Given the description of an element on the screen output the (x, y) to click on. 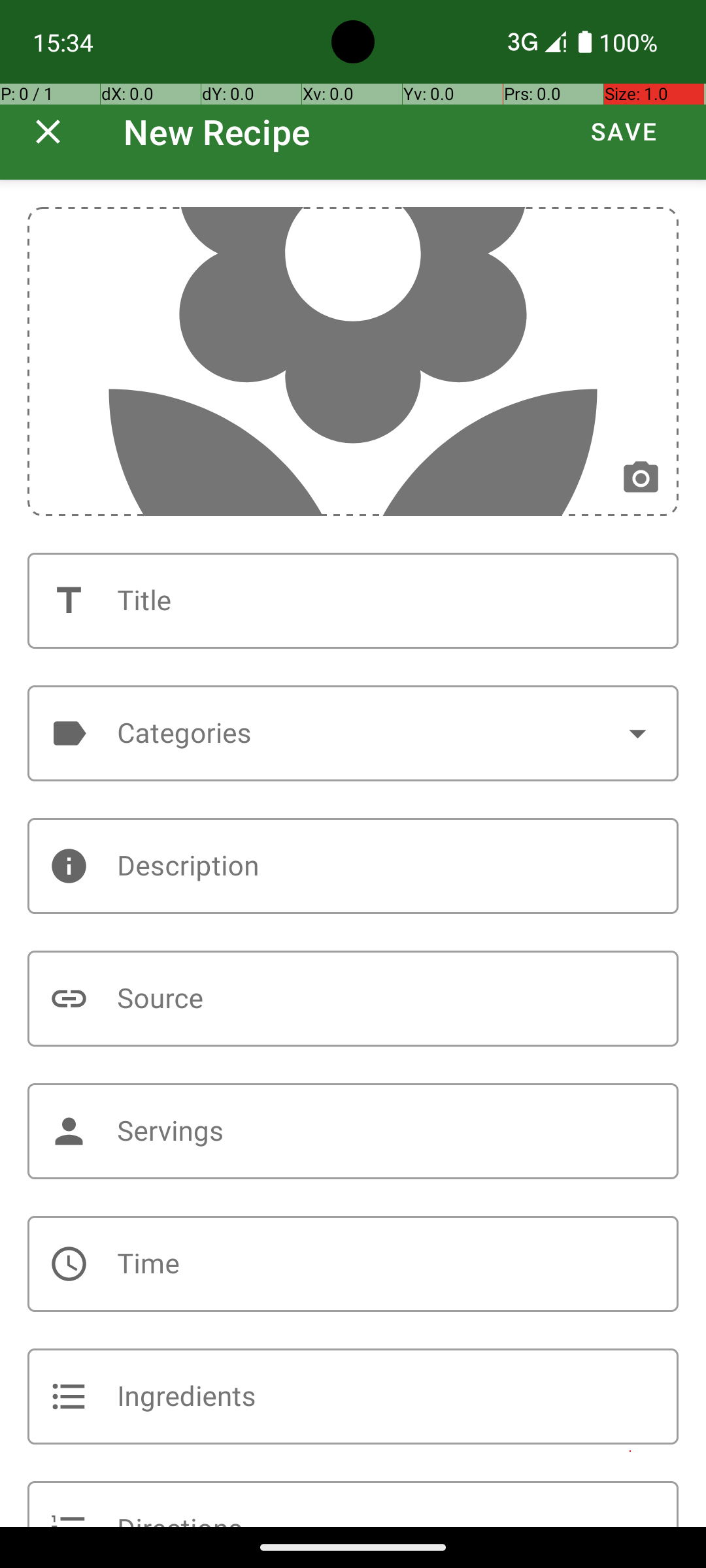
Change photo Element type: android.widget.ImageView (640, 478)
Title Element type: android.widget.EditText (352, 600)
Description Element type: android.widget.EditText (352, 865)
Source Element type: android.widget.EditText (352, 998)
